Given the description of an element on the screen output the (x, y) to click on. 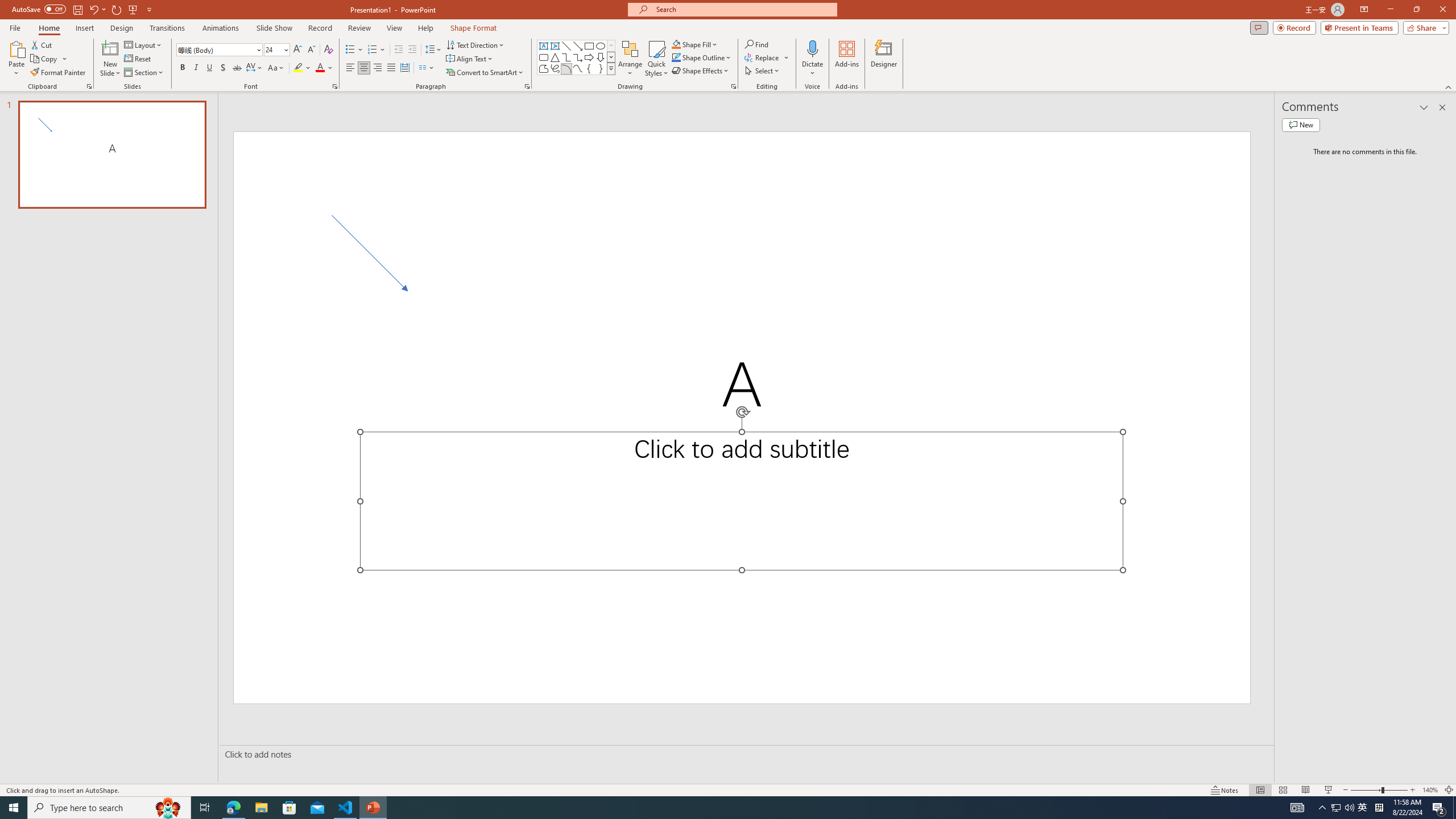
Shape Outline Blue, Accent 1 (675, 56)
